Given the description of an element on the screen output the (x, y) to click on. 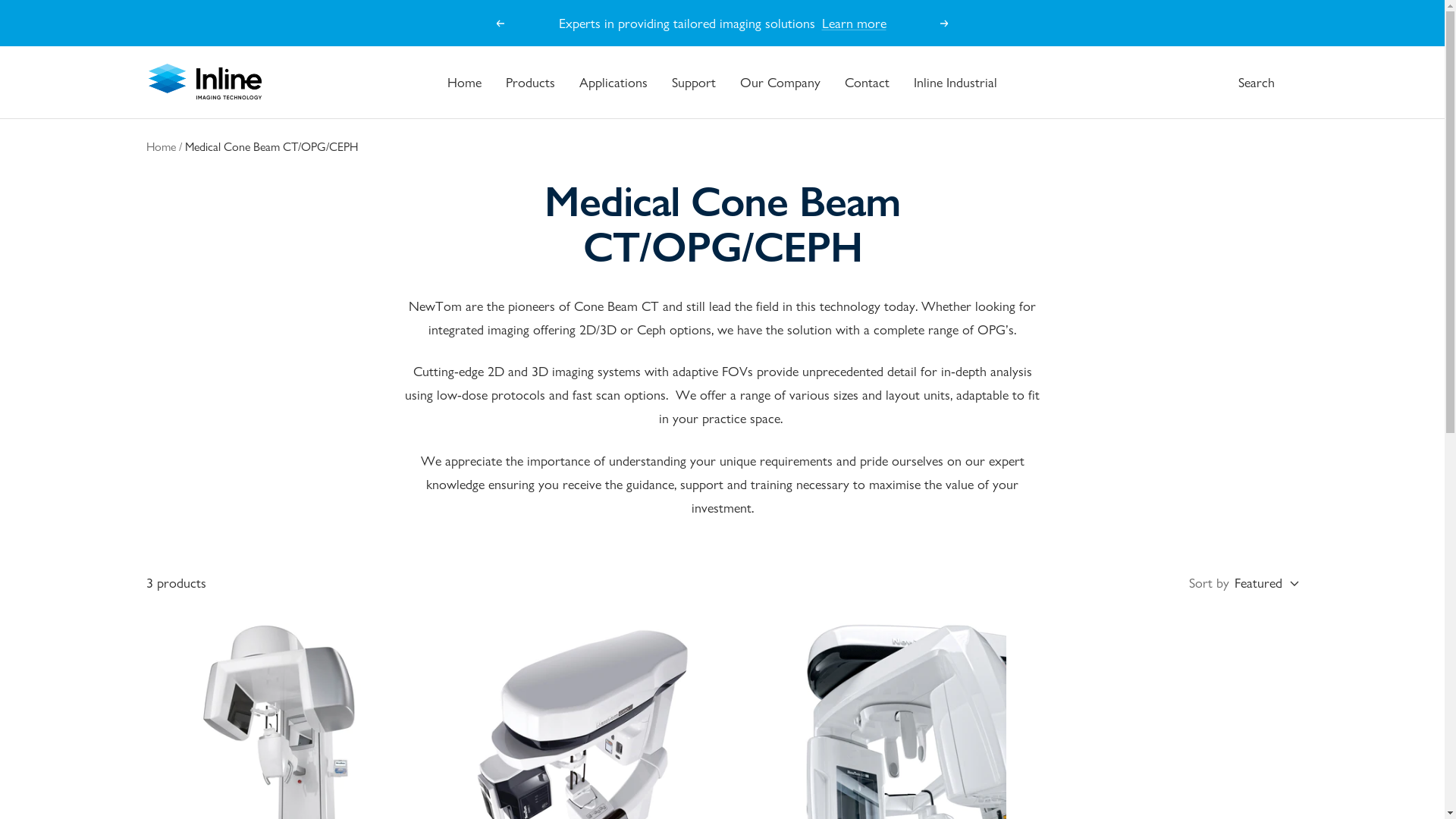
Home Element type: text (464, 82)
Featured Element type: text (1266, 582)
Inline Industrial Element type: text (955, 82)
Previous Element type: text (499, 23)
Contact Element type: text (866, 82)
Home Element type: text (160, 146)
Inline Systems Element type: text (204, 82)
Support Element type: text (693, 82)
Search Element type: text (1255, 82)
Next Element type: text (944, 23)
Products Element type: text (530, 82)
Learn more Element type: text (858, 22)
Applications Element type: text (613, 82)
Our Company Element type: text (780, 82)
